Given the description of an element on the screen output the (x, y) to click on. 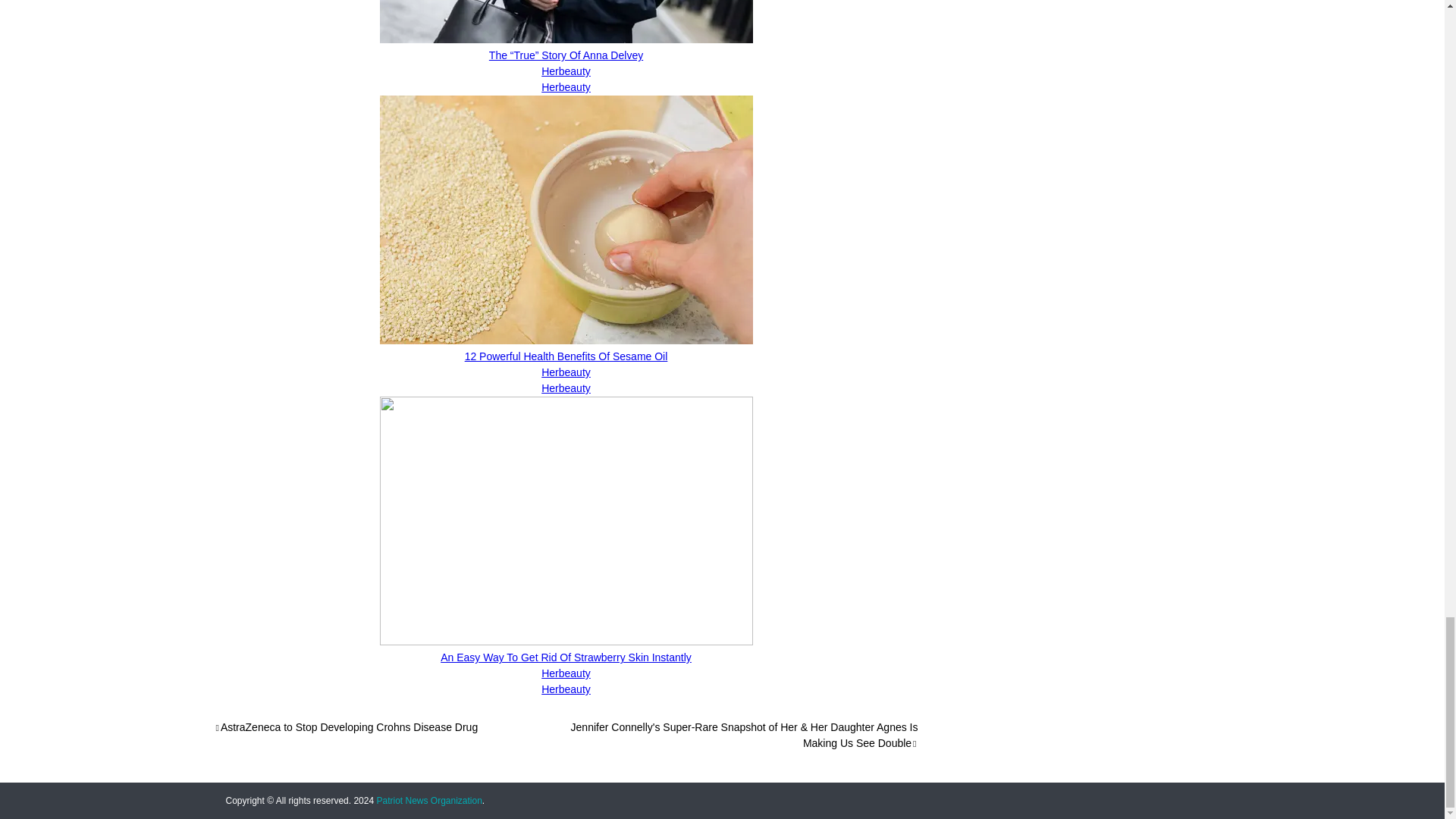
Patriot News Organization (428, 800)
Patriot News Organization (428, 800)
AstraZeneca to Stop Developing Crohns Disease Drug (345, 727)
